Given the description of an element on the screen output the (x, y) to click on. 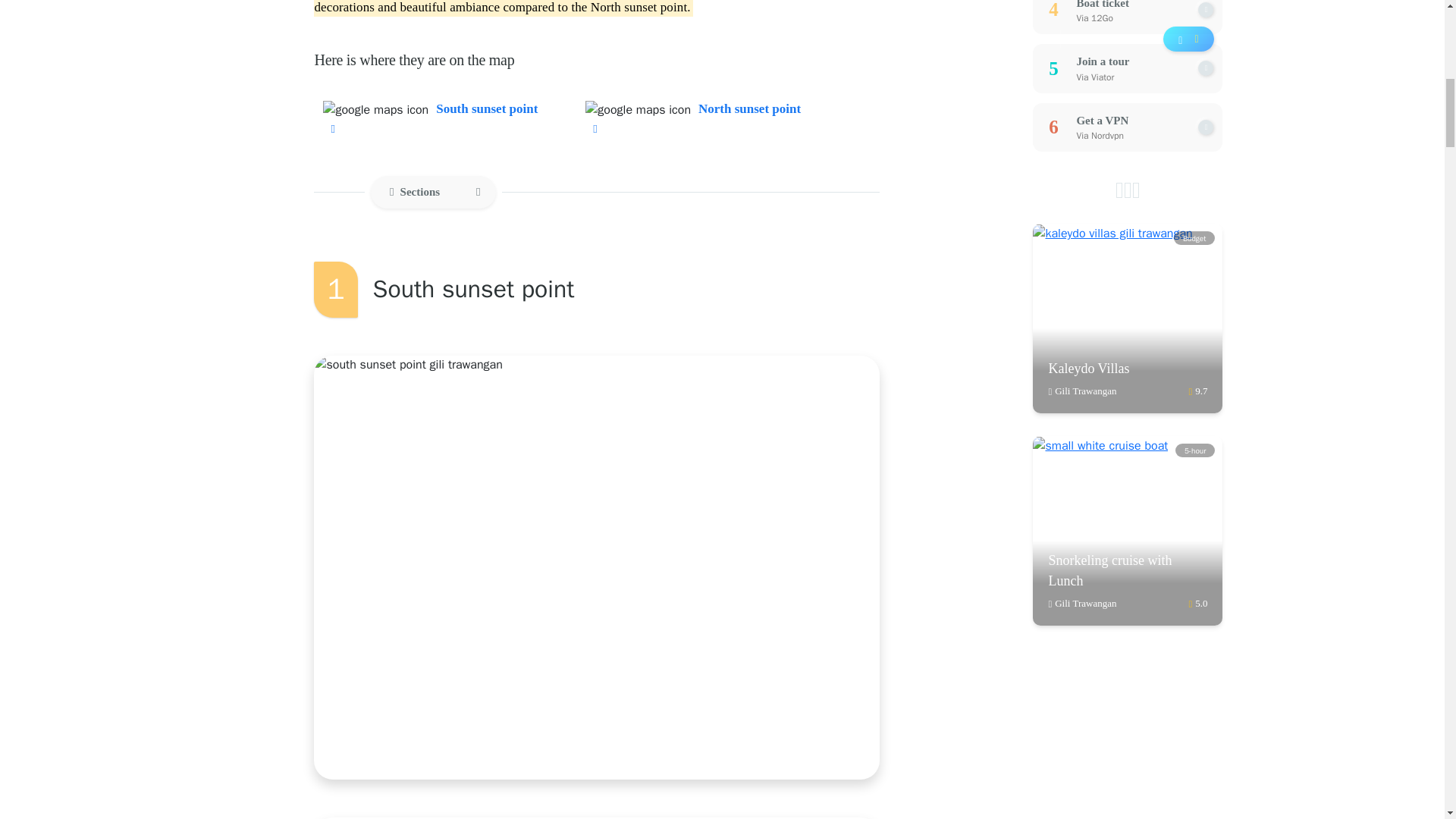
Sections (433, 192)
South sunset point (430, 118)
North sunset point (692, 118)
